Given the description of an element on the screen output the (x, y) to click on. 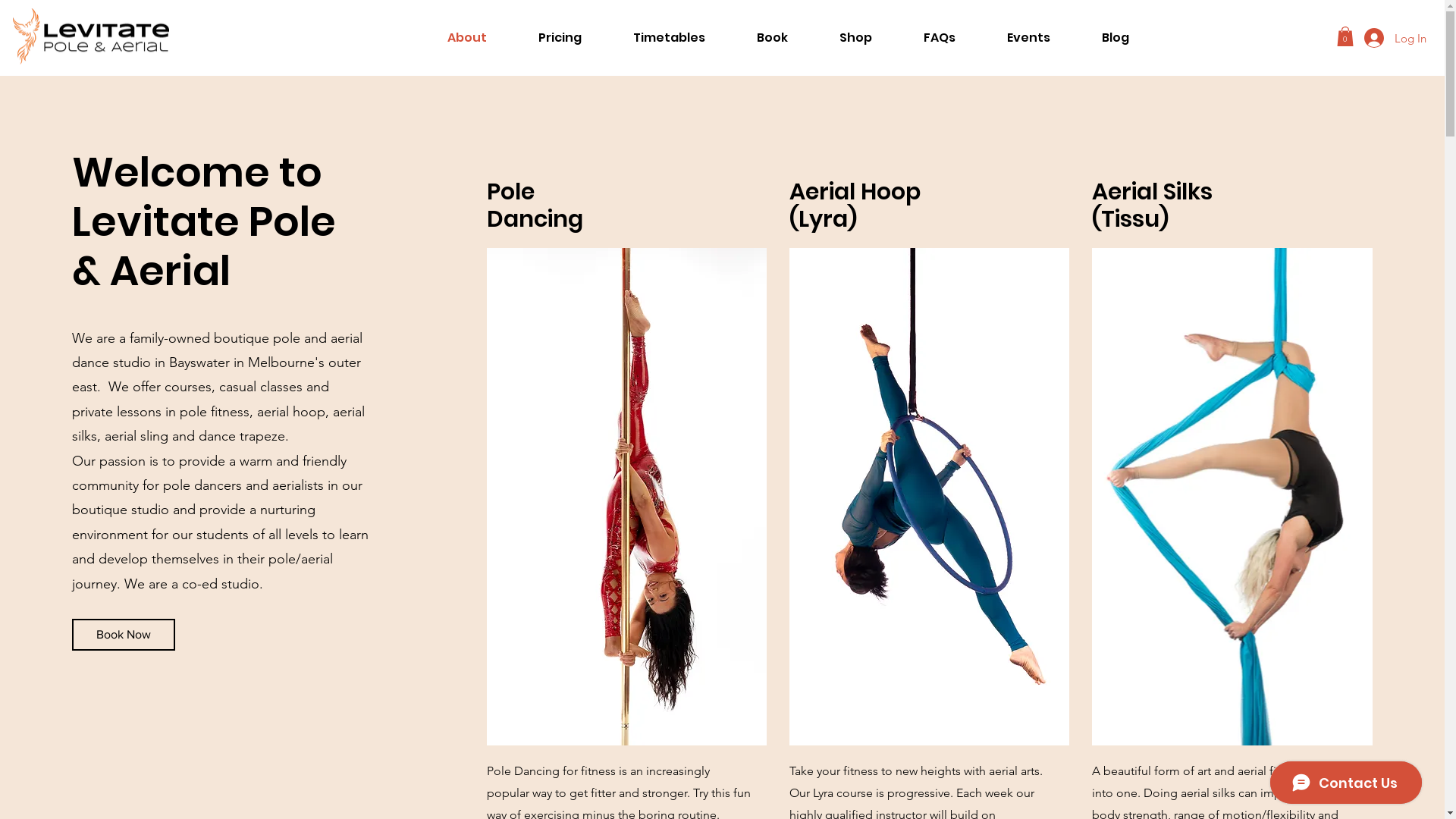
FAQs Element type: text (939, 37)
Blog Element type: text (1115, 37)
Shop Element type: text (855, 37)
0 Element type: text (1344, 36)
Log In Element type: text (1395, 37)
Timetables Element type: text (669, 37)
About Element type: text (466, 37)
Book Now Element type: text (123, 634)
Events Element type: text (1028, 37)
Pricing Element type: text (559, 37)
Book Element type: text (772, 37)
